Given the description of an element on the screen output the (x, y) to click on. 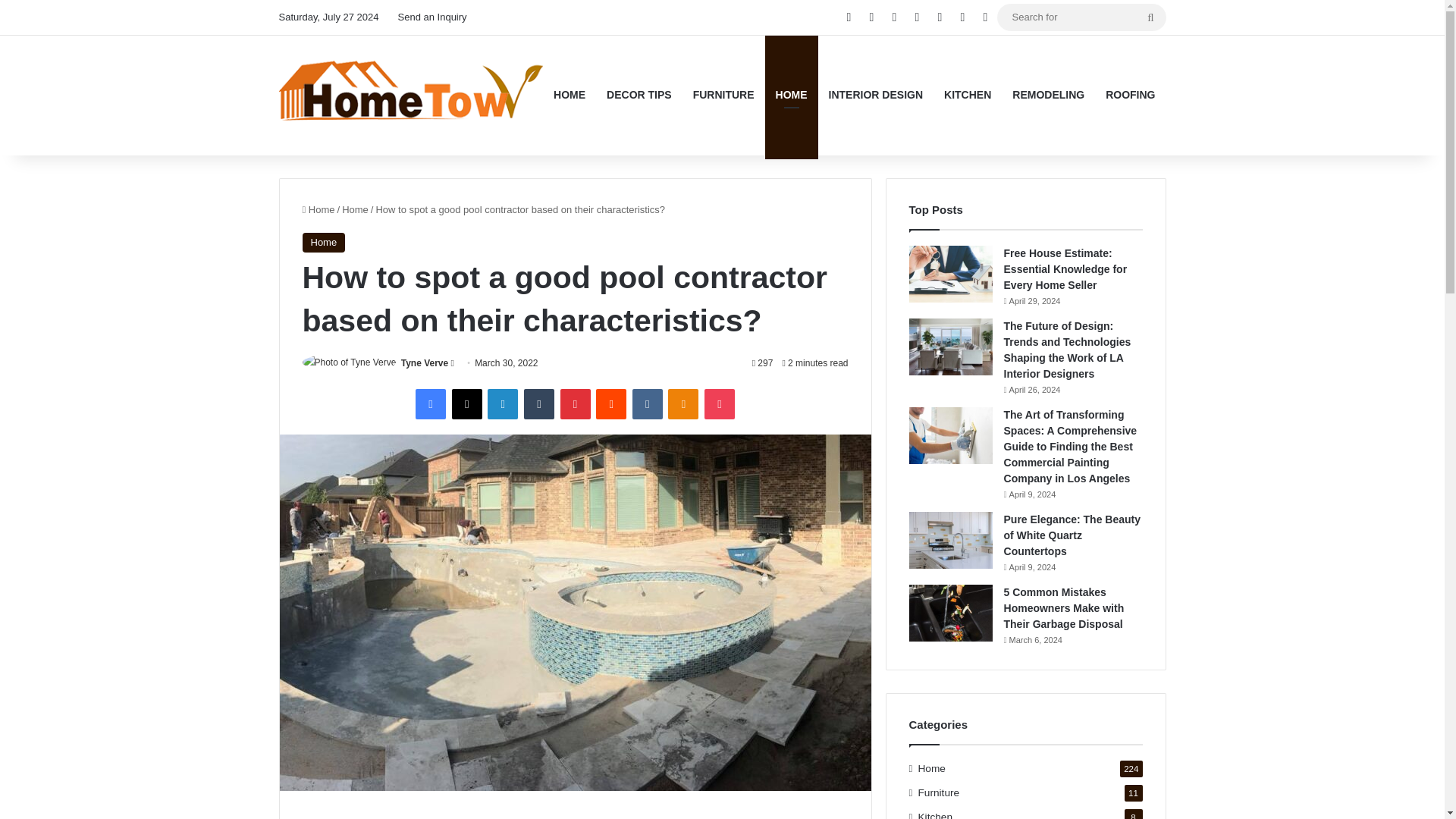
INTERIOR DESIGN (875, 95)
X (466, 404)
Tumblr (539, 404)
VKontakte (646, 404)
Reddit (610, 404)
Tyne Verve (424, 362)
Home Towv - Unclogging Drains Tips - Has You Covered! (411, 93)
Tyne Verve (424, 362)
Home (355, 208)
Reddit (610, 404)
X (466, 404)
Search for (1150, 17)
Home (323, 241)
Odnoklassniki (683, 404)
Home (317, 208)
